Given the description of an element on the screen output the (x, y) to click on. 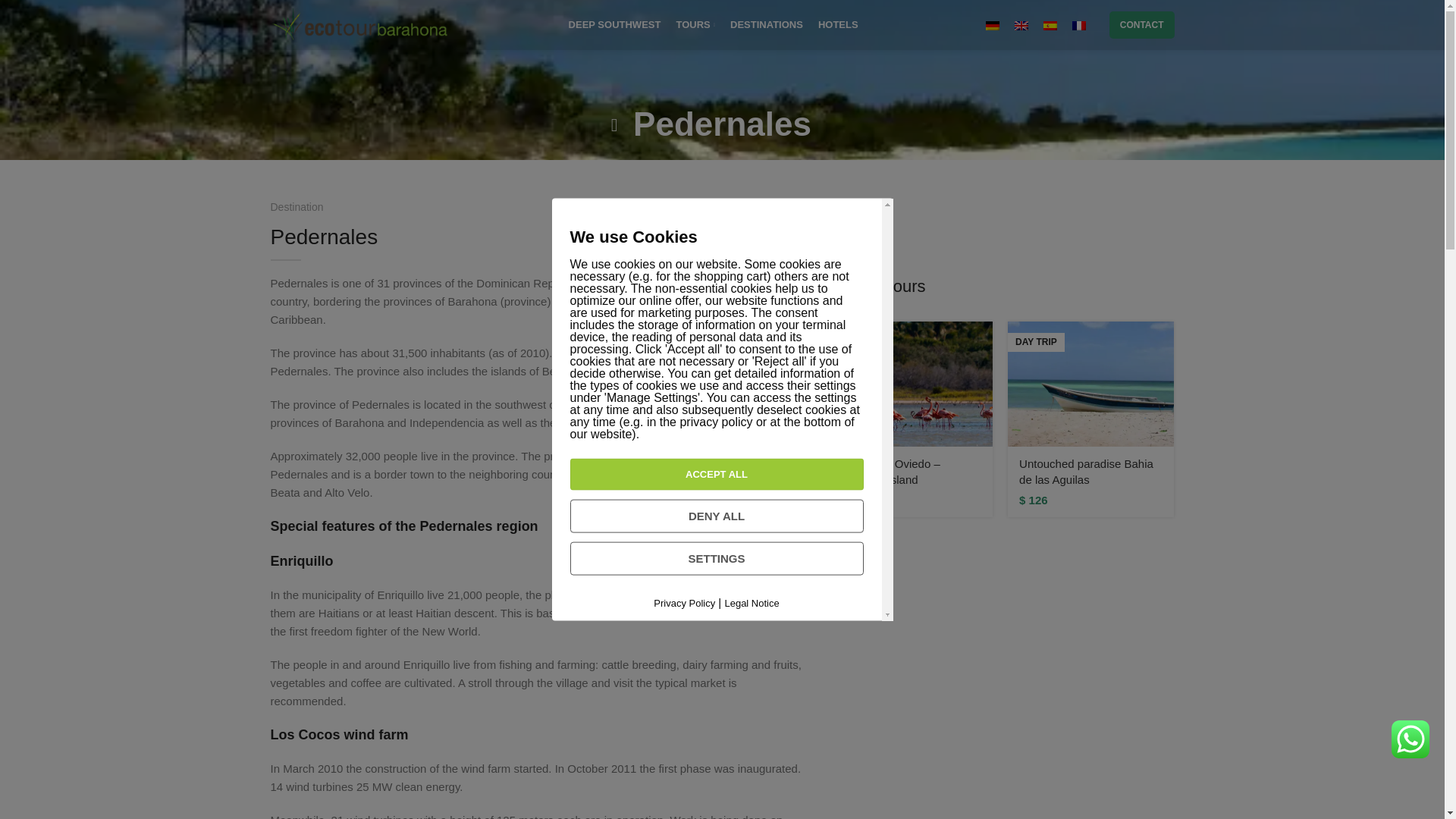
TOURS (694, 24)
DEEP SOUTHWEST (615, 24)
DAY TRIP (1090, 383)
DESTINATIONS (766, 24)
HOTELS (838, 24)
CONTACT (1141, 24)
DAY TRIP (909, 383)
Untouched paradise Bahia de las Aguilas (1086, 471)
